Given the description of an element on the screen output the (x, y) to click on. 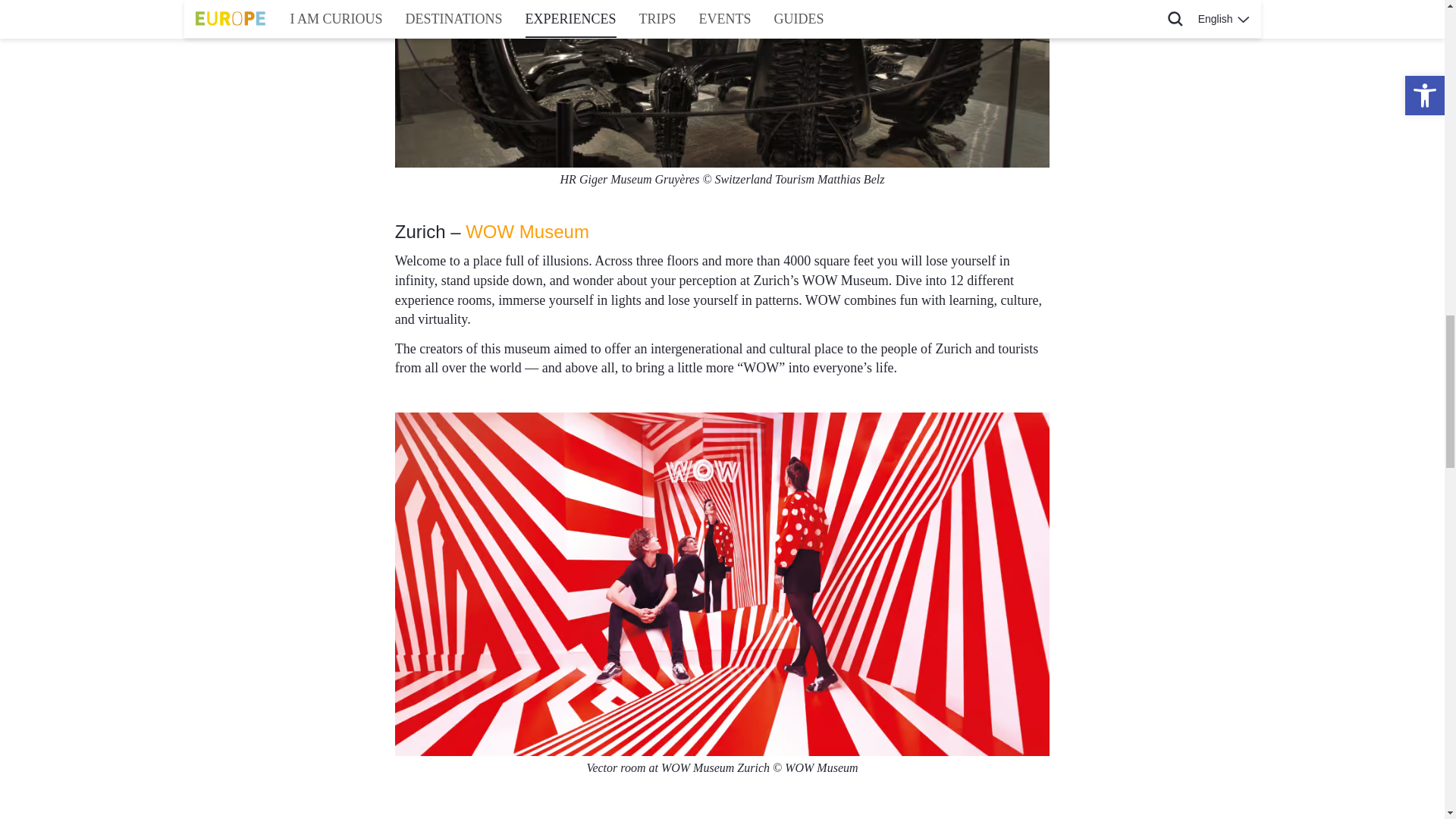
WOW Museum (527, 231)
